Given the description of an element on the screen output the (x, y) to click on. 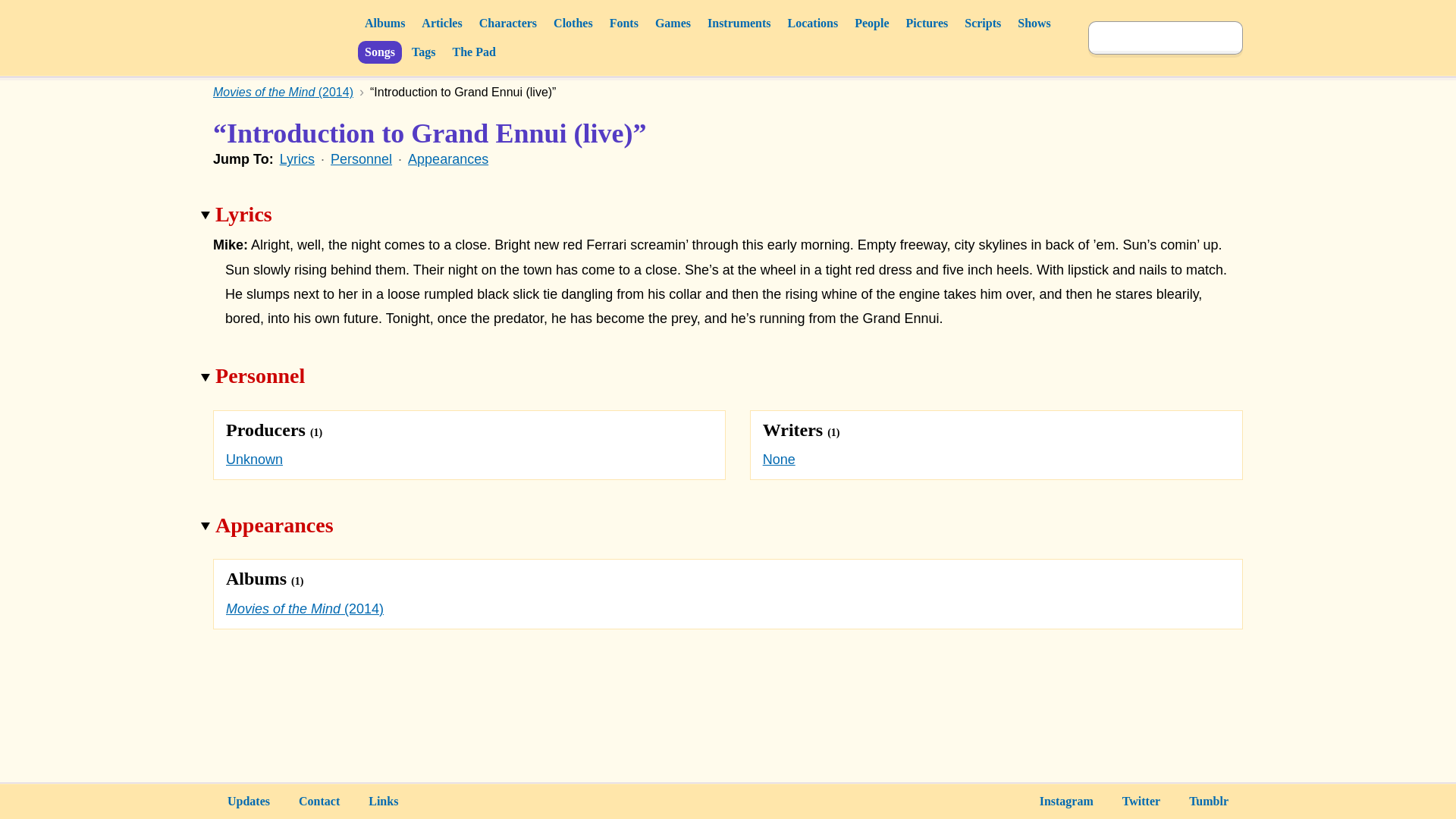
Updates (248, 801)
Locations (812, 23)
Games (672, 23)
Contact (318, 801)
Lyrics (296, 159)
Sunshine Factory (281, 37)
Tags (423, 51)
People (871, 23)
Unknown (253, 459)
The Pad (473, 51)
